Given the description of an element on the screen output the (x, y) to click on. 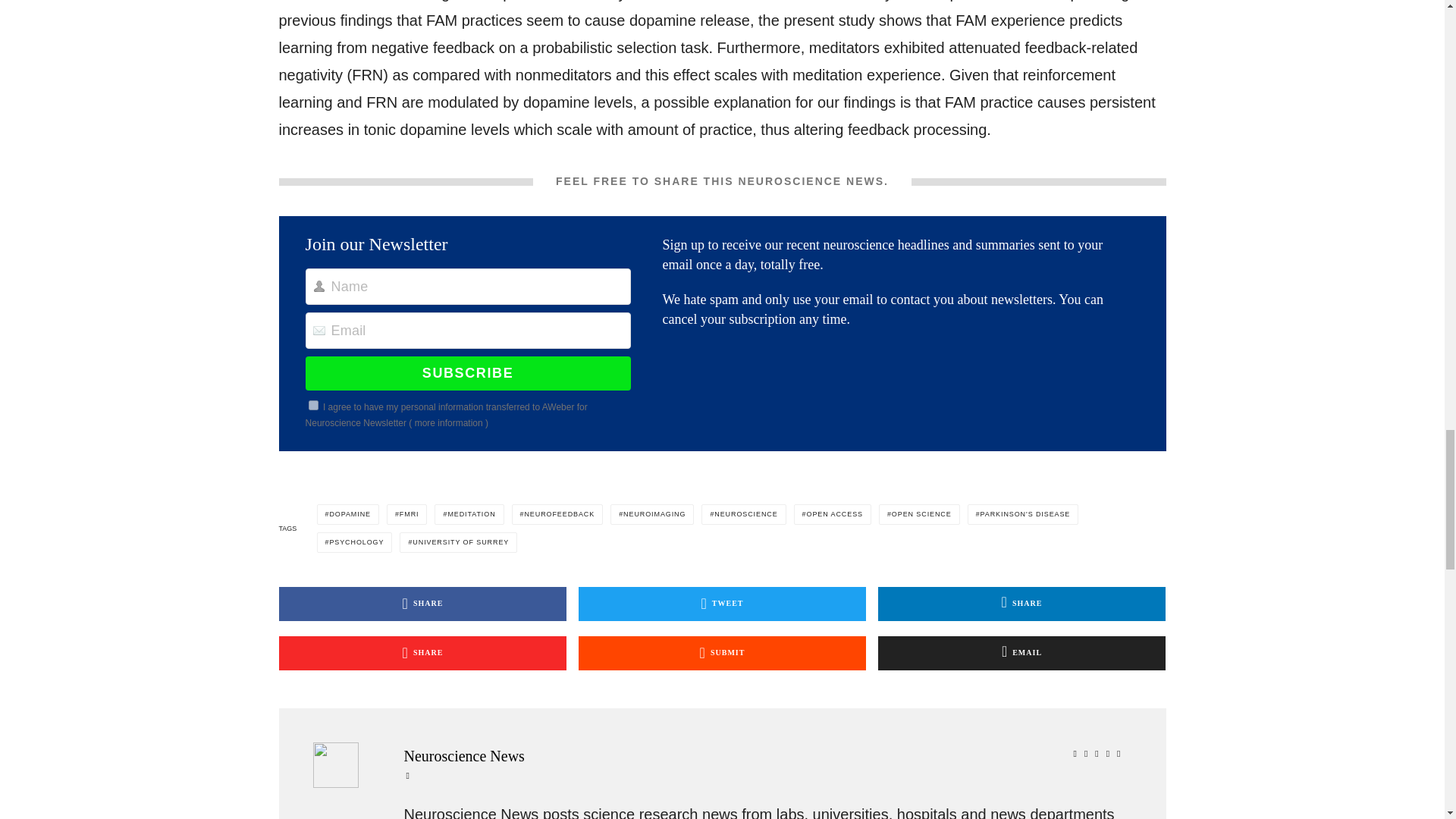
PSYCHOLOGY (355, 542)
SHARE (423, 603)
SHARE (1021, 603)
Neuroscience News (764, 755)
TWEET (722, 603)
MEDITATION (468, 514)
EMAIL (1021, 653)
NEUROIMAGING (652, 514)
SHARE (423, 653)
on (313, 405)
